Given the description of an element on the screen output the (x, y) to click on. 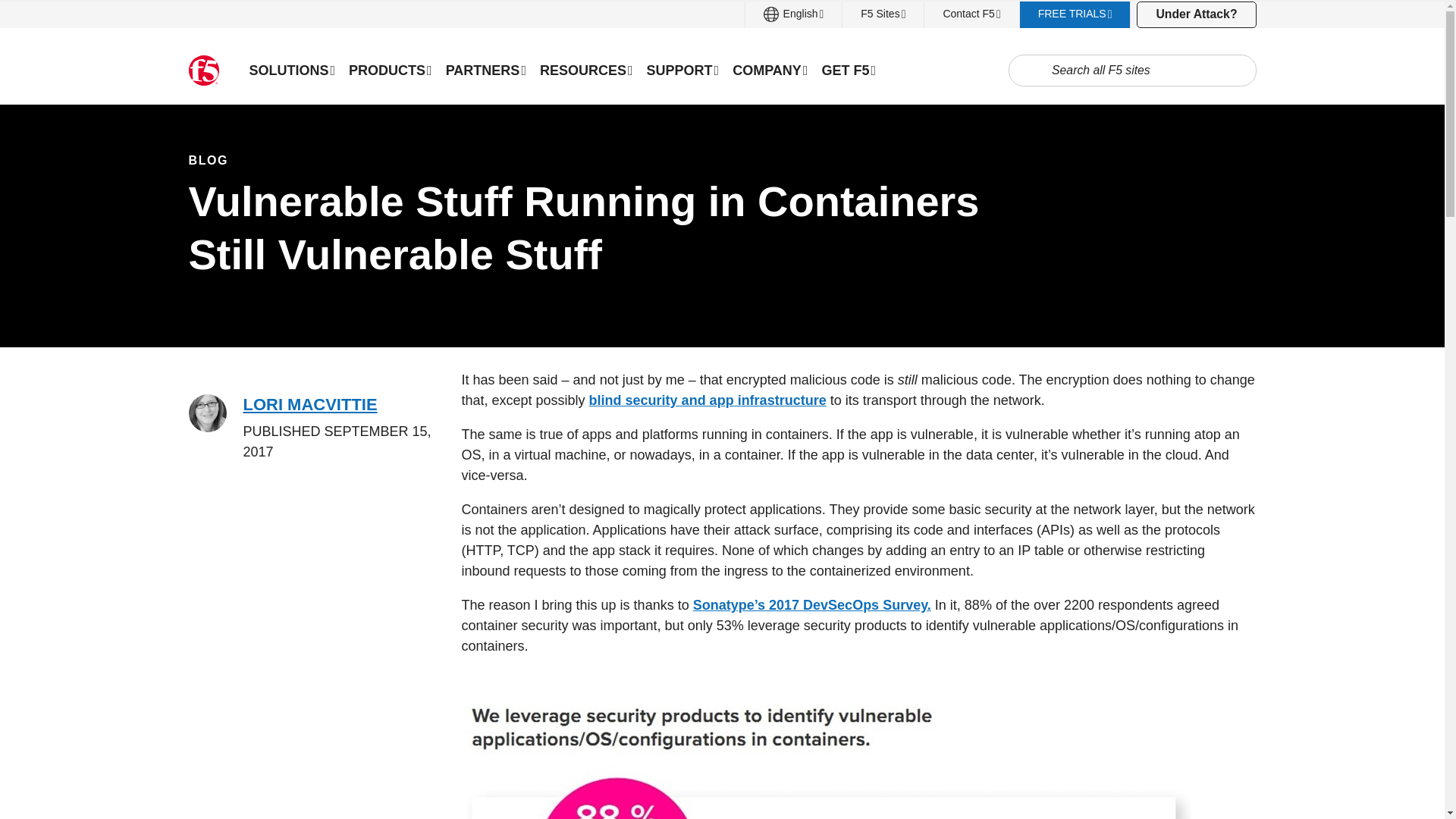
F5 Sites (883, 13)
LORI MACVITTIE (310, 404)
GET F5 (847, 69)
FREE TRIALS (1075, 13)
English (794, 13)
SOLUTIONS (292, 69)
SUPPORT (683, 69)
blind security and app infrastructure (708, 400)
RESOURCES (586, 69)
Under Attack? (1196, 14)
COMPANY (769, 69)
PRODUCTS (390, 69)
Contact F5 (970, 13)
PARTNERS (485, 69)
F5 (202, 70)
